Given the description of an element on the screen output the (x, y) to click on. 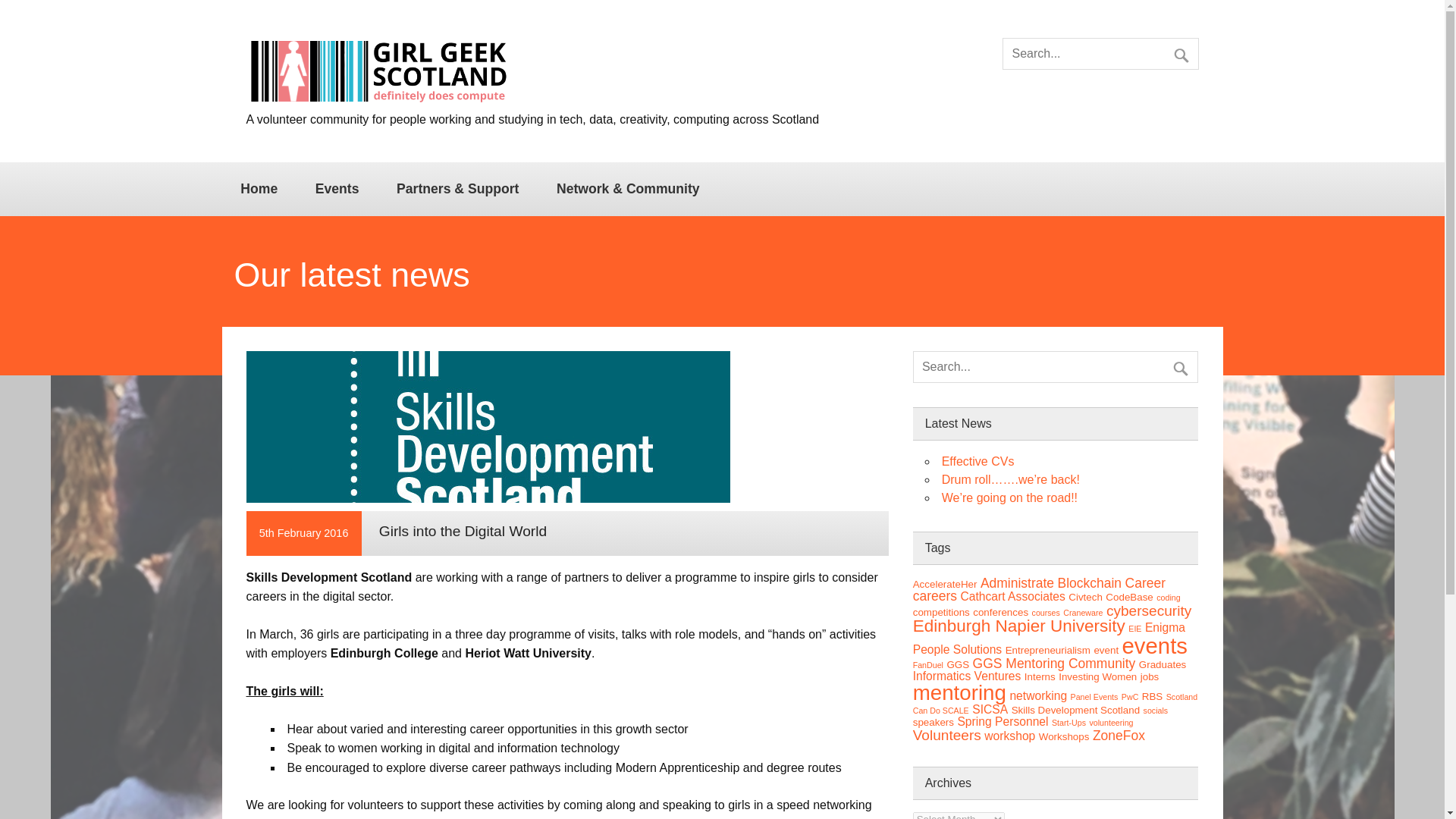
Home (257, 188)
Career (1145, 582)
Effective CVs (978, 461)
CodeBase (1129, 596)
Cathcart Associates (1011, 595)
Events (336, 188)
Blockchain (1090, 582)
Girl Geek Scotland (377, 102)
AccelerateHer (944, 583)
Civtech (1085, 596)
careers (934, 595)
Administrate (1016, 582)
